Given the description of an element on the screen output the (x, y) to click on. 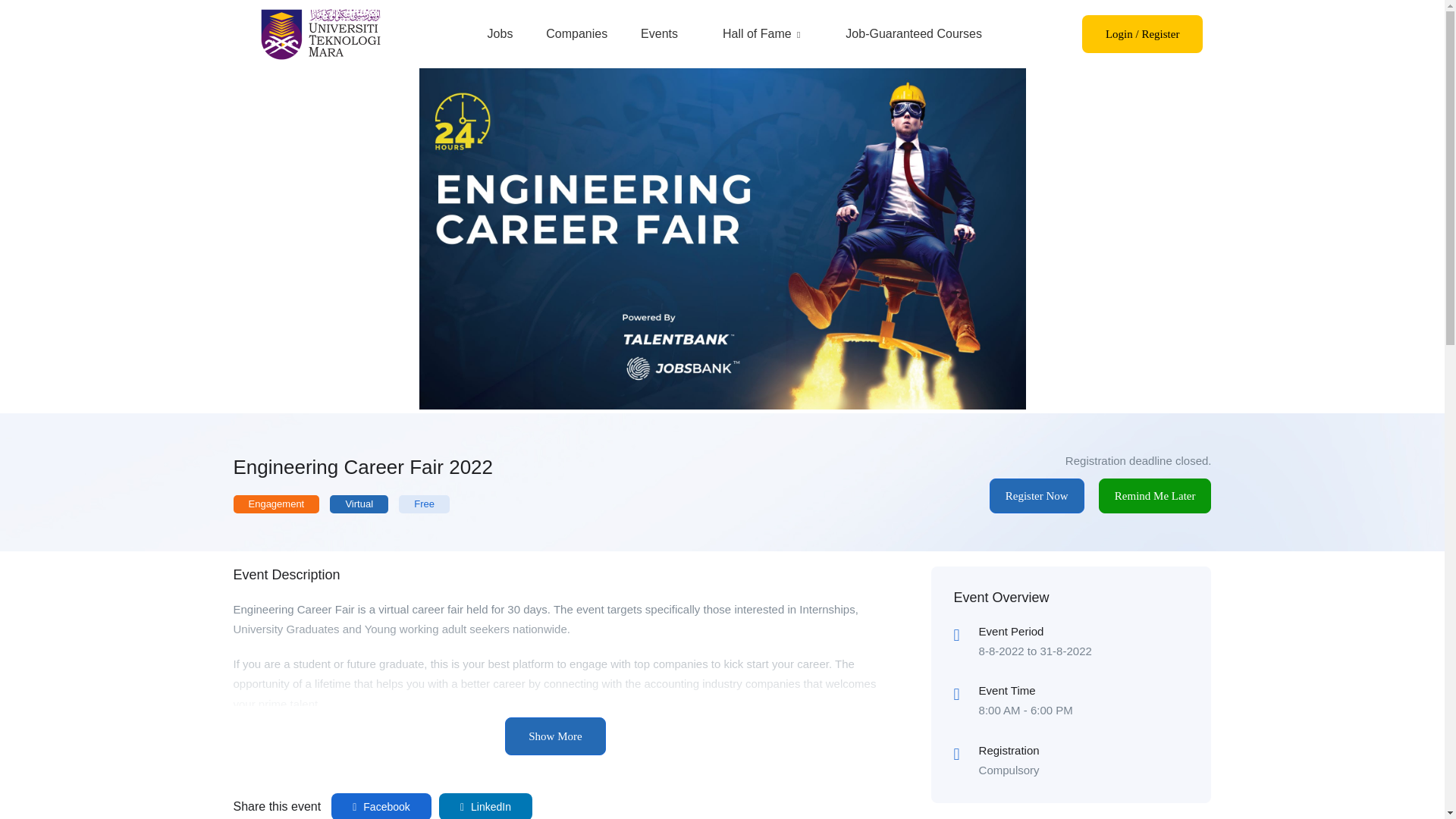
Jobs (500, 34)
Job-Guaranteed Courses (914, 34)
Events (659, 34)
Hall of Fame (761, 34)
Companies (576, 34)
IPTA-UiTM.png (319, 33)
